Given the description of an element on the screen output the (x, y) to click on. 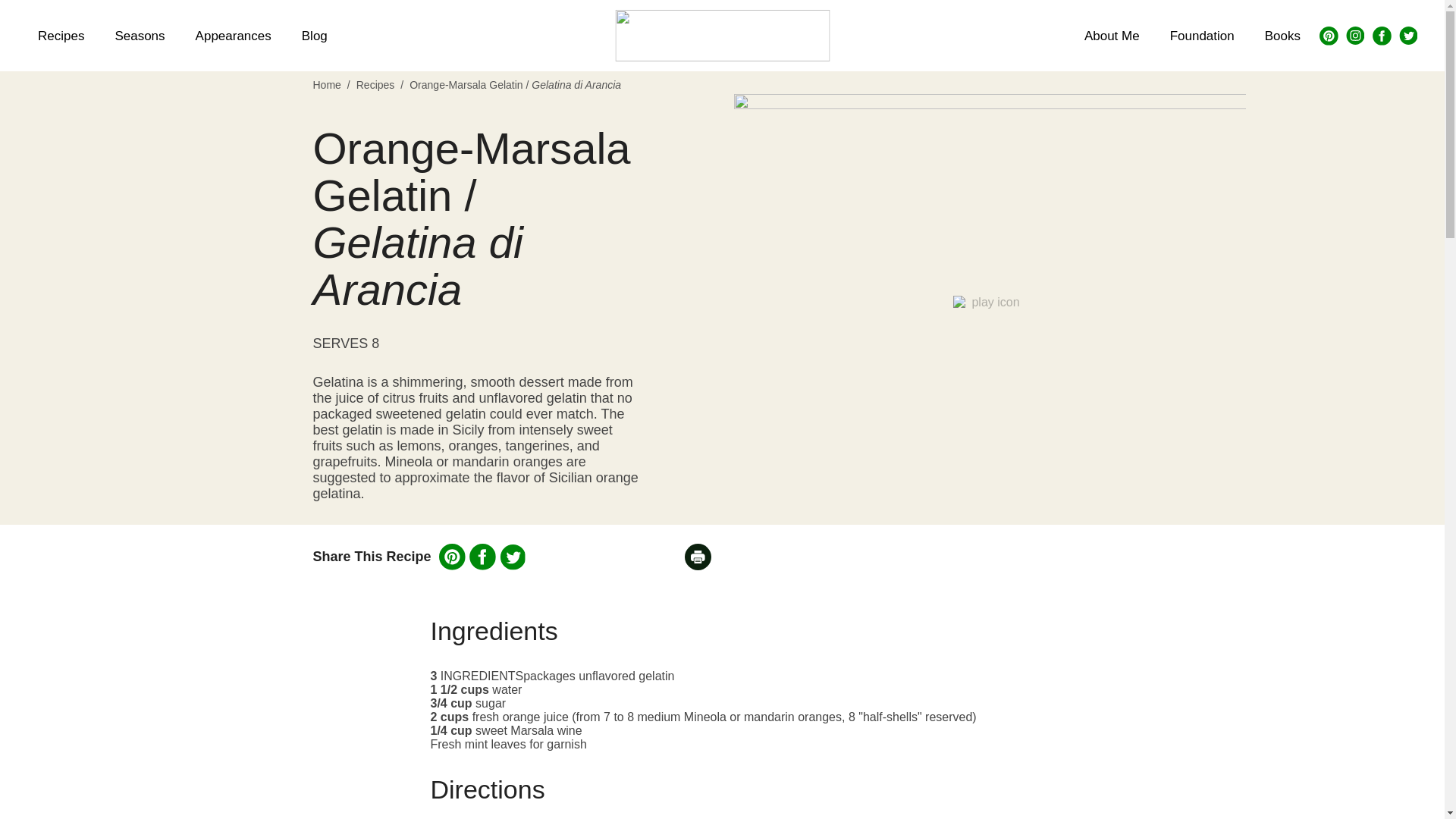
Home (326, 84)
Foundation (1201, 35)
Seasons (139, 35)
Recipes (61, 35)
About Me (1111, 35)
Appearances (233, 35)
Recipes (375, 84)
Books (1282, 35)
homepage (721, 35)
